Given the description of an element on the screen output the (x, y) to click on. 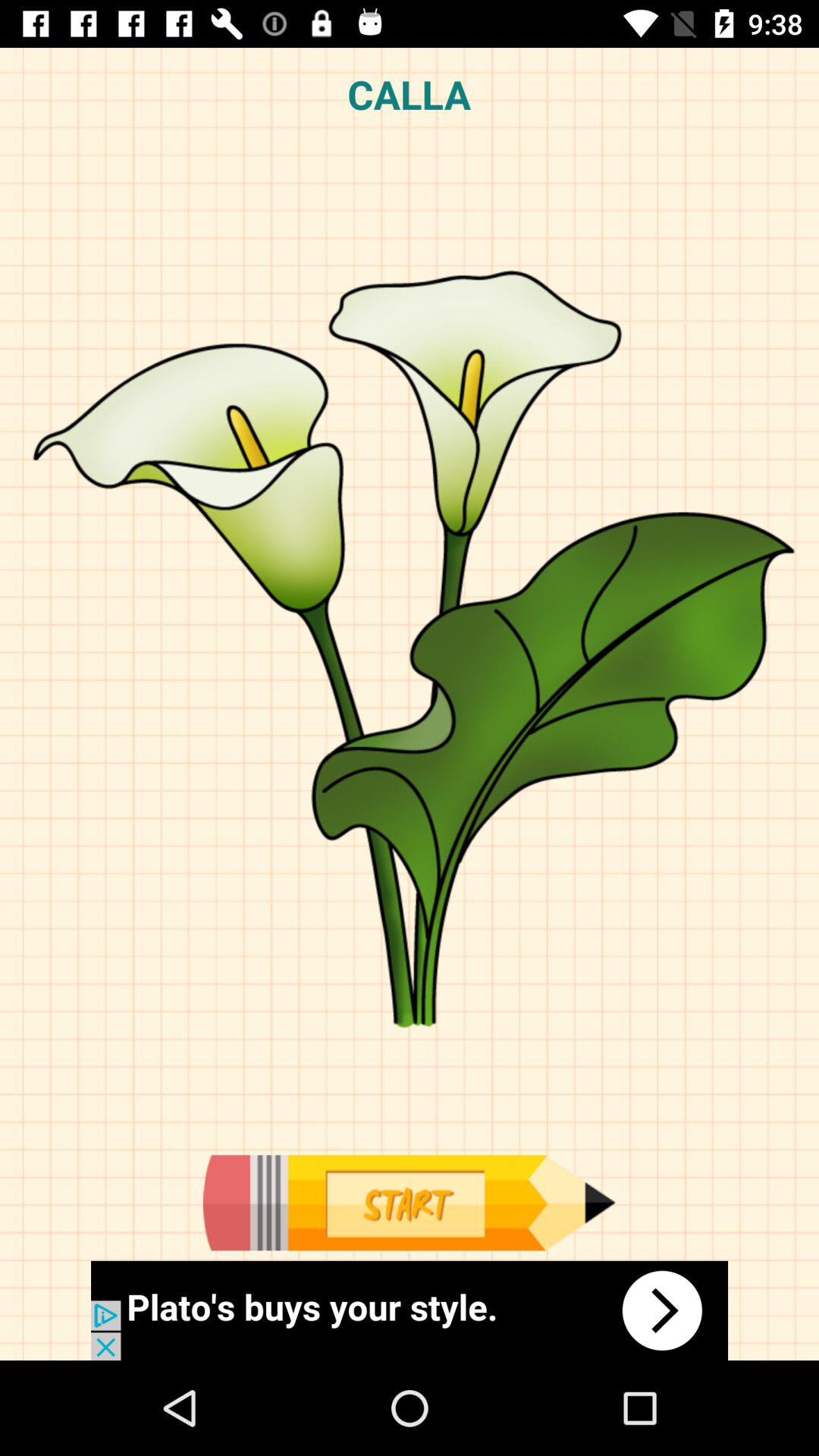
go to next (409, 1310)
